Given the description of an element on the screen output the (x, y) to click on. 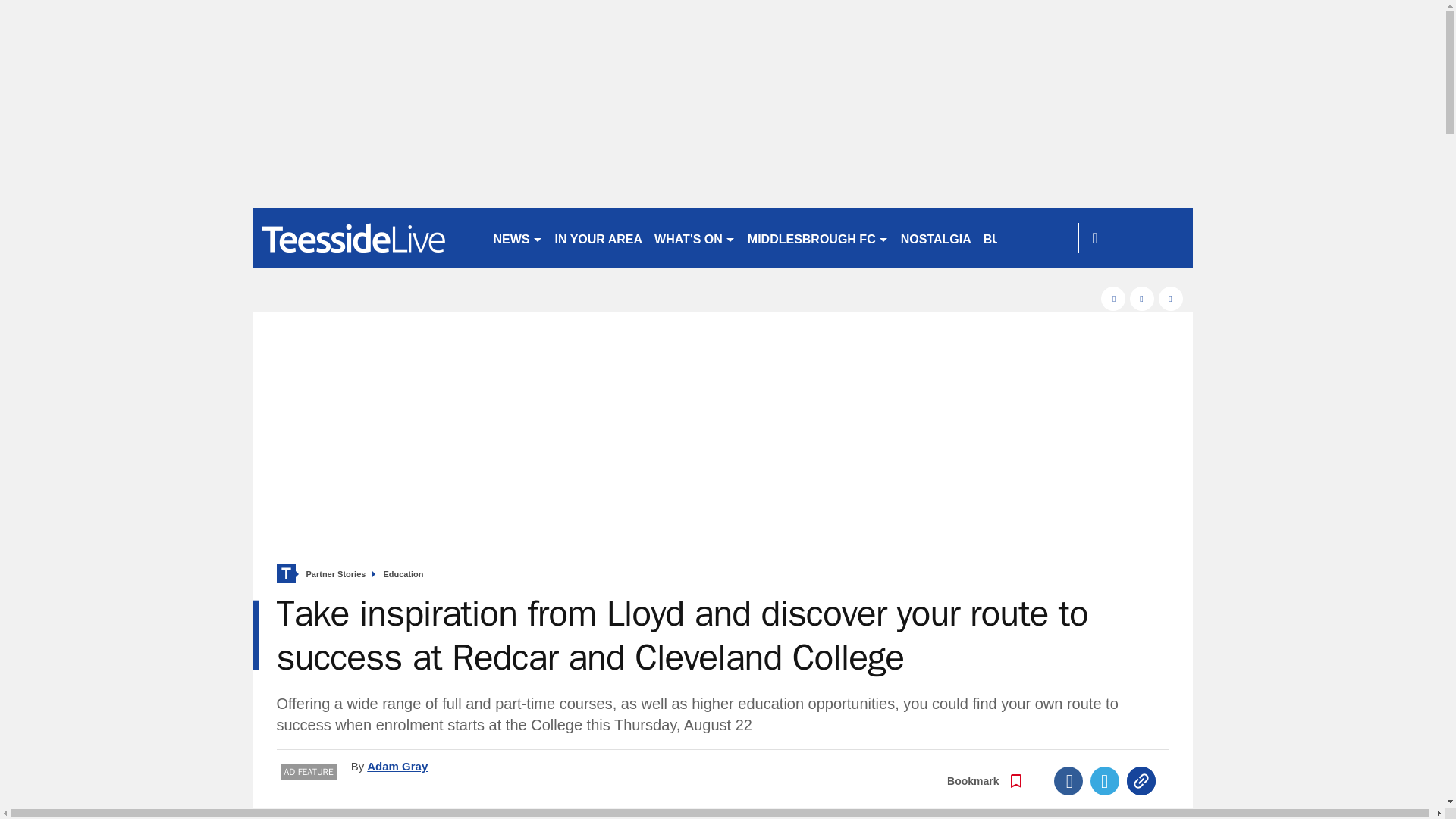
Facebook (1068, 780)
facebook (1112, 298)
instagram (1170, 298)
NEWS (517, 238)
WHAT'S ON (694, 238)
Twitter (1104, 780)
BUSINESS (1013, 238)
MIDDLESBROUGH FC (818, 238)
NOSTALGIA (935, 238)
gazettelive (365, 238)
